Given the description of an element on the screen output the (x, y) to click on. 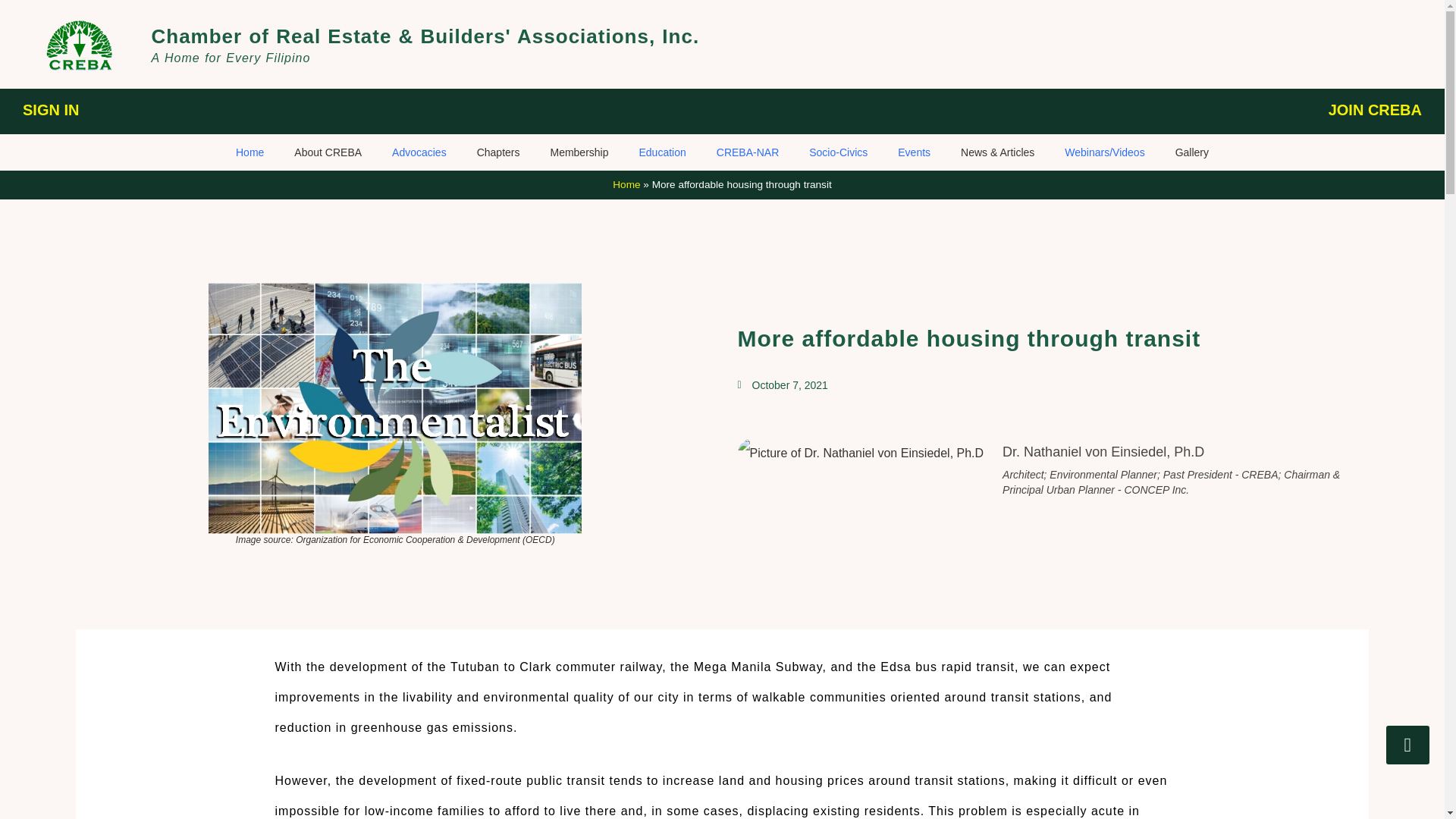
Chapters (498, 151)
JOIN CREBA (1374, 109)
About CREBA (328, 151)
Home (250, 151)
Advocacies (419, 151)
SIGN IN (50, 109)
